Given the description of an element on the screen output the (x, y) to click on. 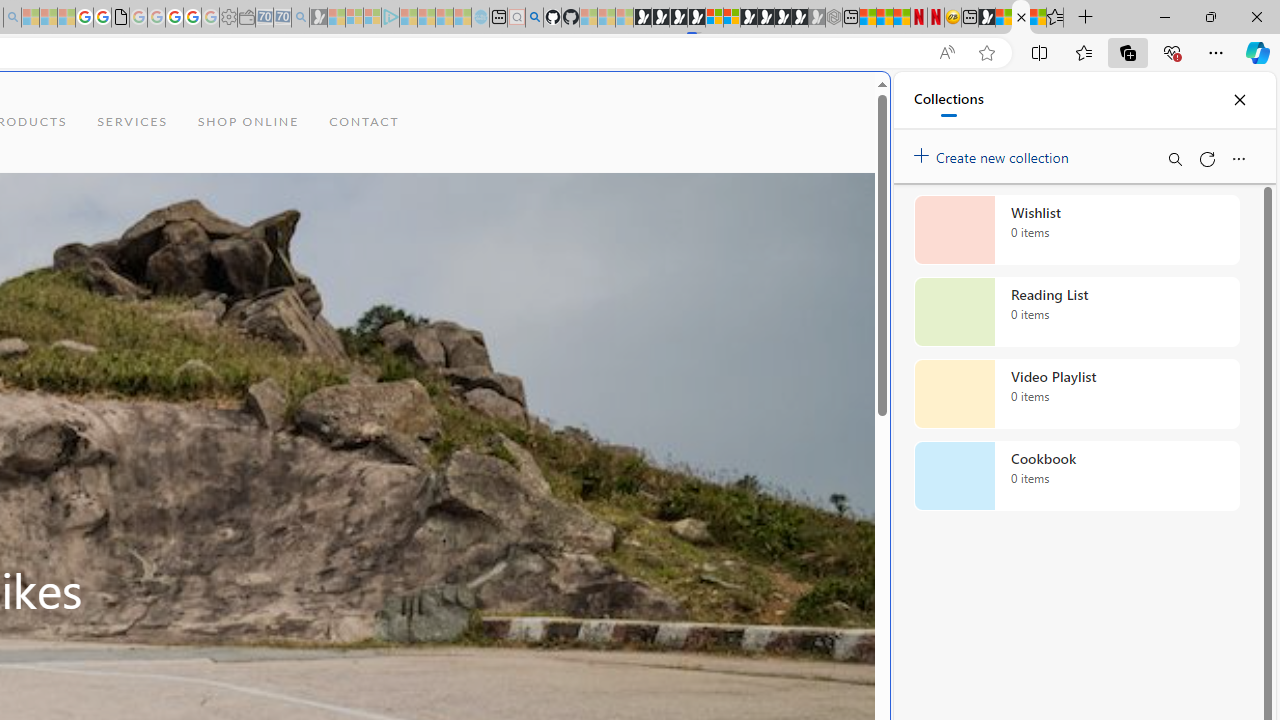
Overview (731, 17)
CONTACT (363, 122)
SHOP ONLINE (247, 122)
Frequently visited (418, 265)
